Given the description of an element on the screen output the (x, y) to click on. 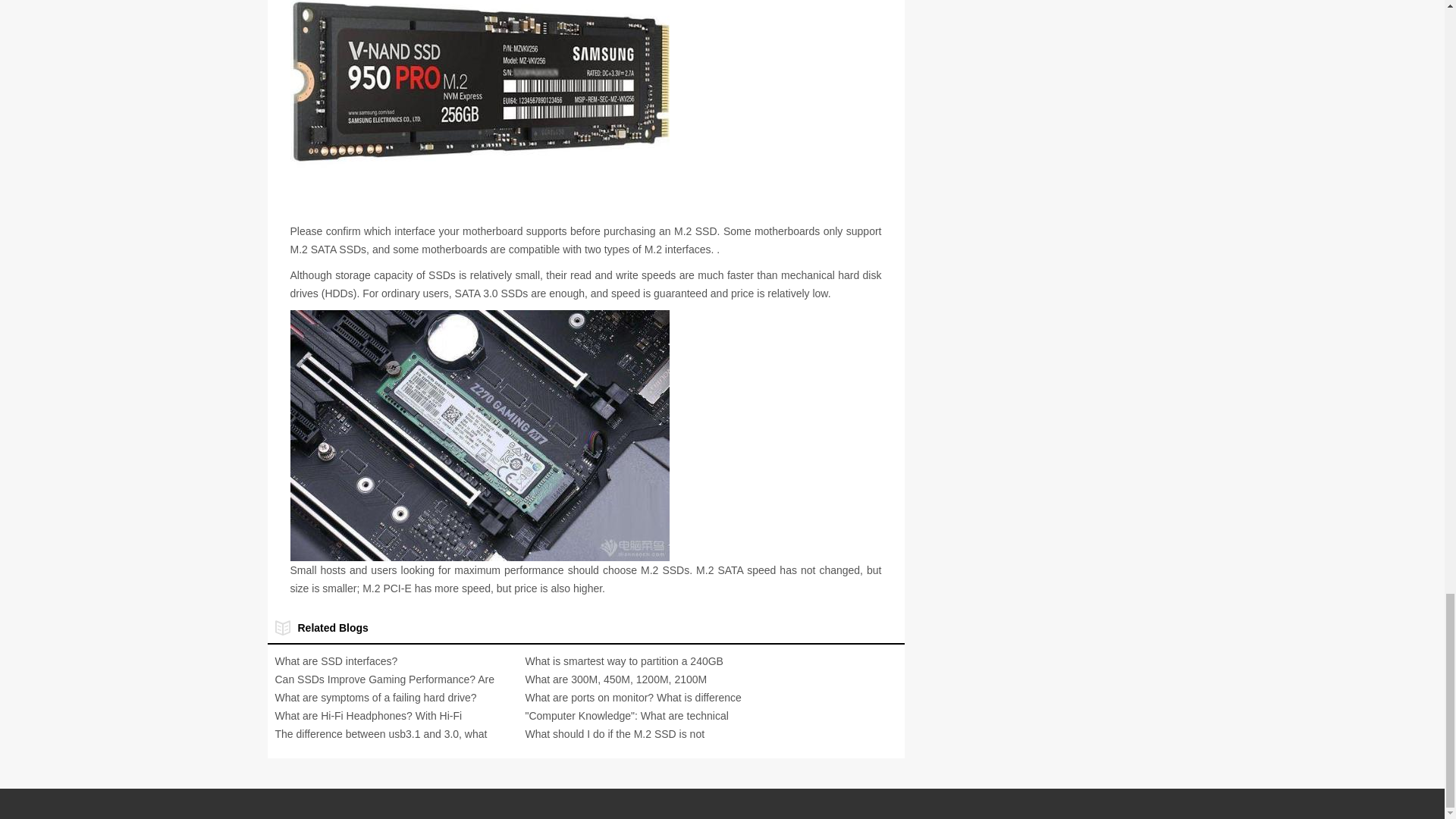
What is smartest way to partition a 240GB SSD? (623, 670)
